Given the description of an element on the screen output the (x, y) to click on. 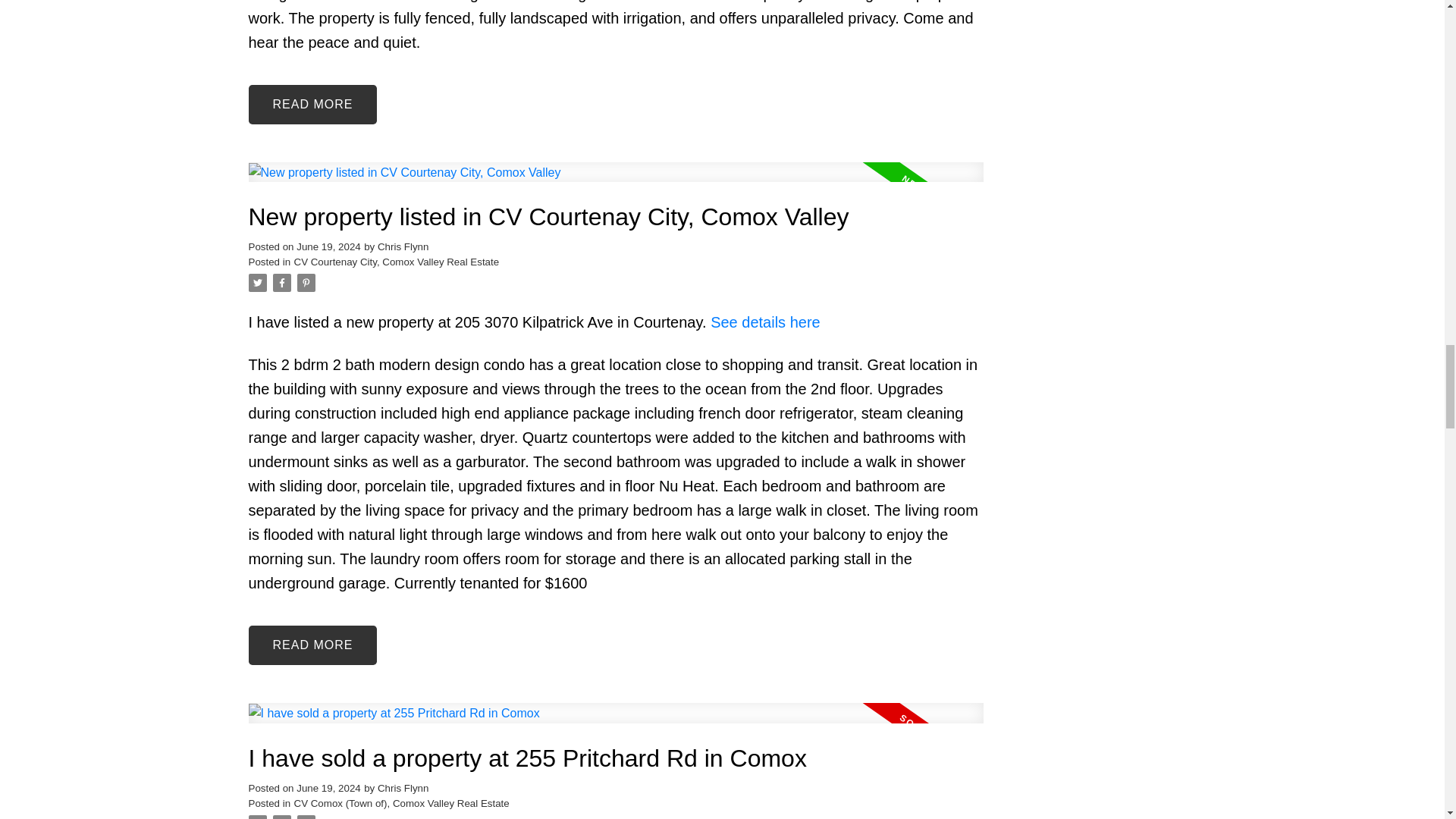
Read full post (616, 181)
Read full post (616, 722)
